Given the description of an element on the screen output the (x, y) to click on. 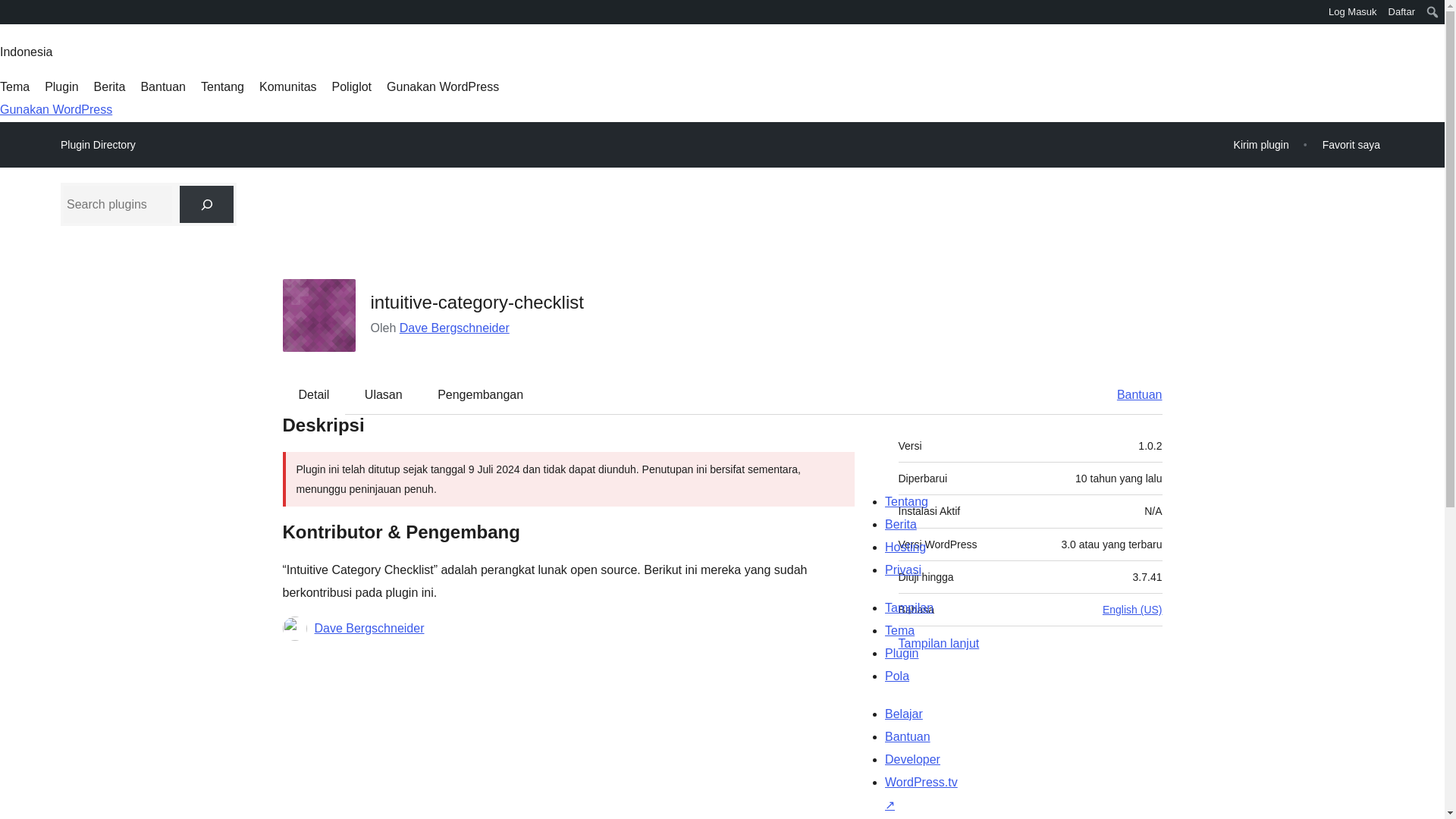
Bantuan (162, 87)
Plugin (61, 87)
Daftar (1402, 12)
WordPress.org (10, 16)
Plugin Directory (97, 144)
Detail (314, 394)
WordPress.org (10, 10)
Berita (109, 87)
Log Masuk (1353, 12)
Dave Bergschneider (368, 628)
Kirim plugin (1261, 144)
Tentang (222, 87)
Pengembangan (480, 394)
Ulasan (383, 394)
Dave Bergschneider (453, 327)
